Given the description of an element on the screen output the (x, y) to click on. 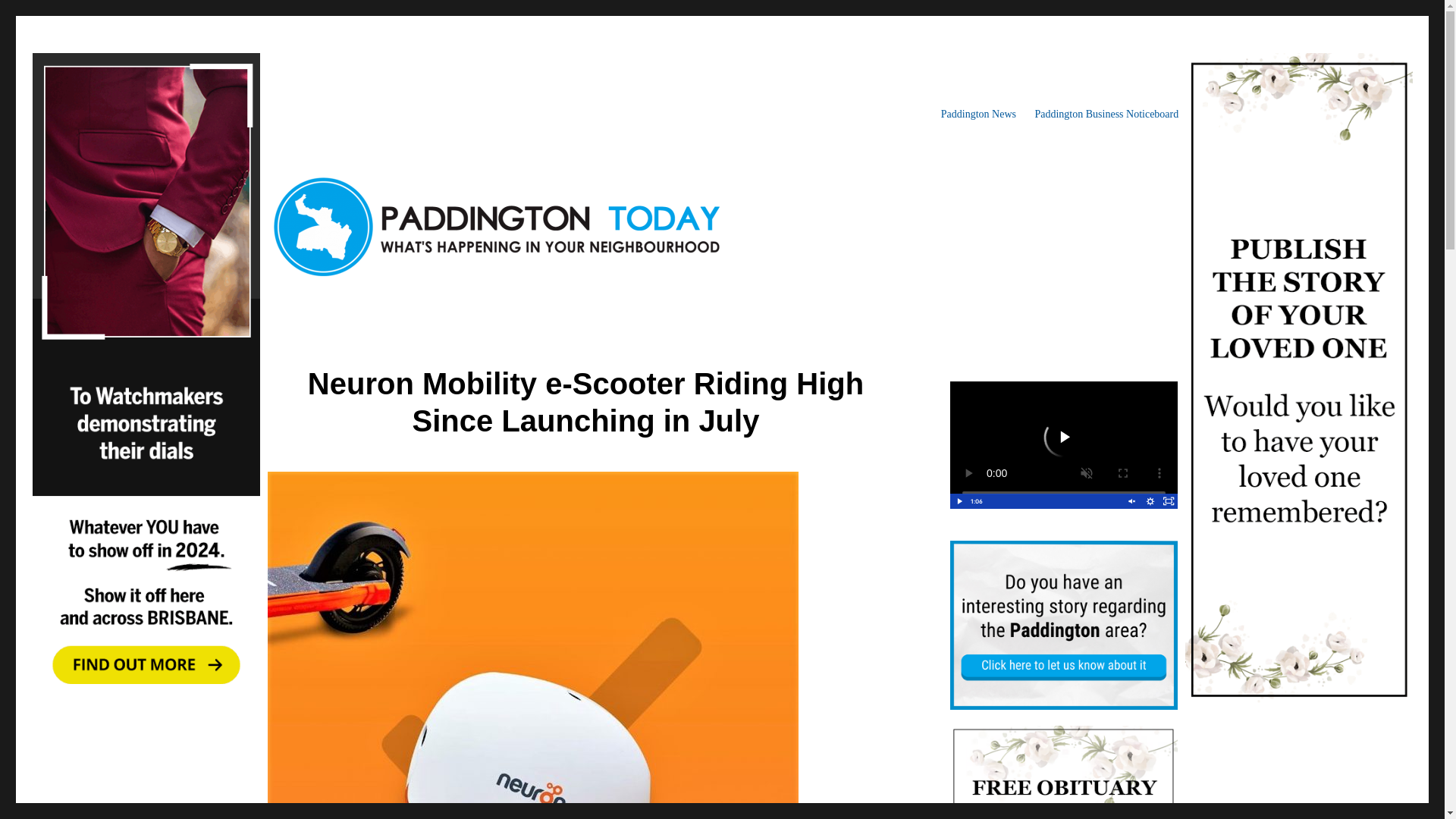
Show settings menu (1149, 500)
Unmute (1131, 500)
Paddington Today (349, 114)
Paddington News (978, 114)
Fullscreen (1167, 500)
Paddington Business Noticeboard (1106, 114)
Play Video (958, 500)
